Given the description of an element on the screen output the (x, y) to click on. 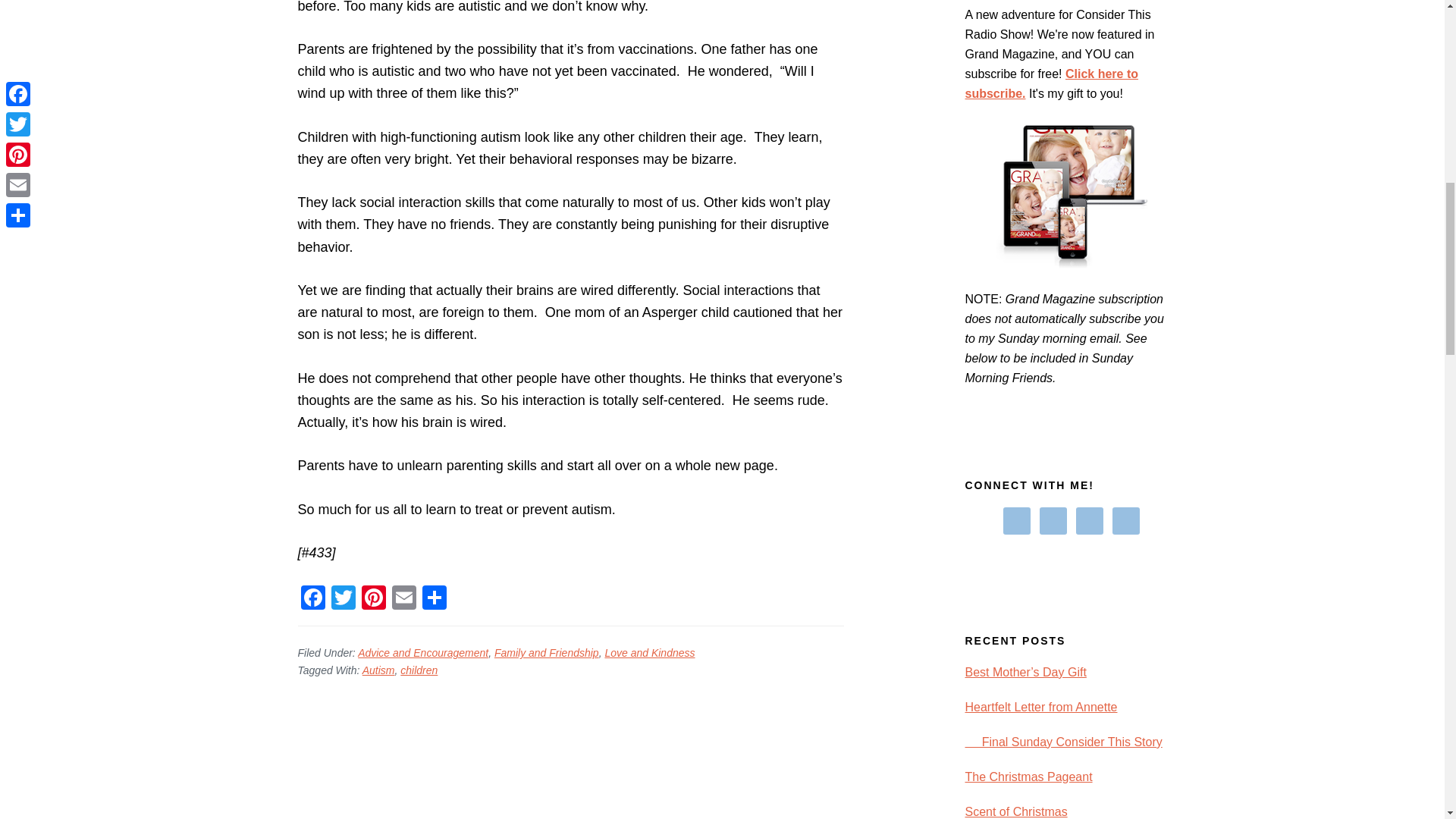
Share (433, 599)
Pinterest (373, 599)
Click here to subscribe. (1050, 83)
Love and Kindness (649, 653)
Autism (378, 670)
Twitter (342, 599)
Email (403, 599)
Twitter (342, 599)
Advice and Encouragement (422, 653)
Heartfelt Letter from Annette (1039, 707)
Pinterest (373, 599)
children (419, 670)
Email (403, 599)
Facebook (312, 599)
Facebook (312, 599)
